Given the description of an element on the screen output the (x, y) to click on. 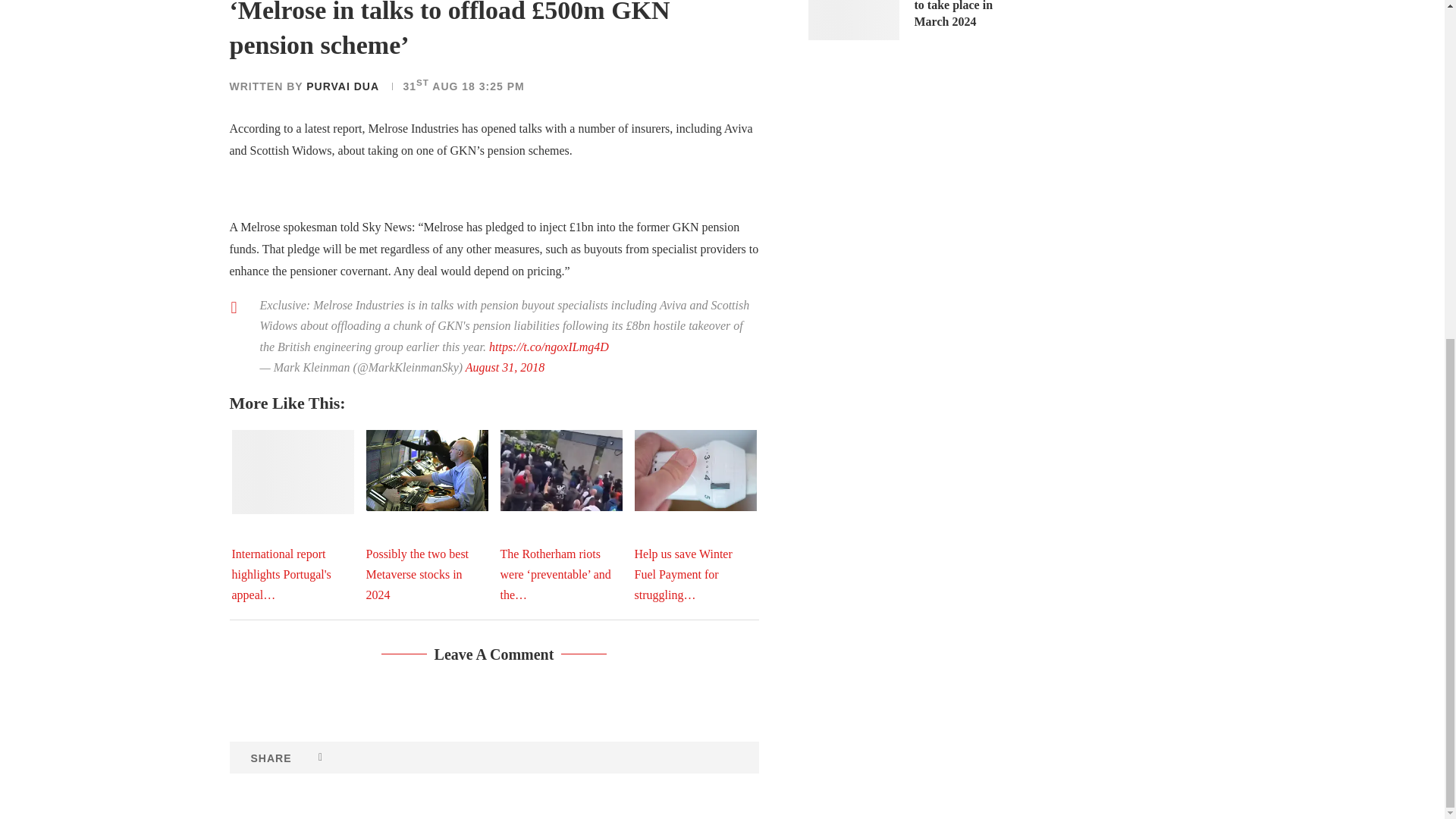
Possibly the two best Metaverse stocks in 2024 (426, 470)
